Given the description of an element on the screen output the (x, y) to click on. 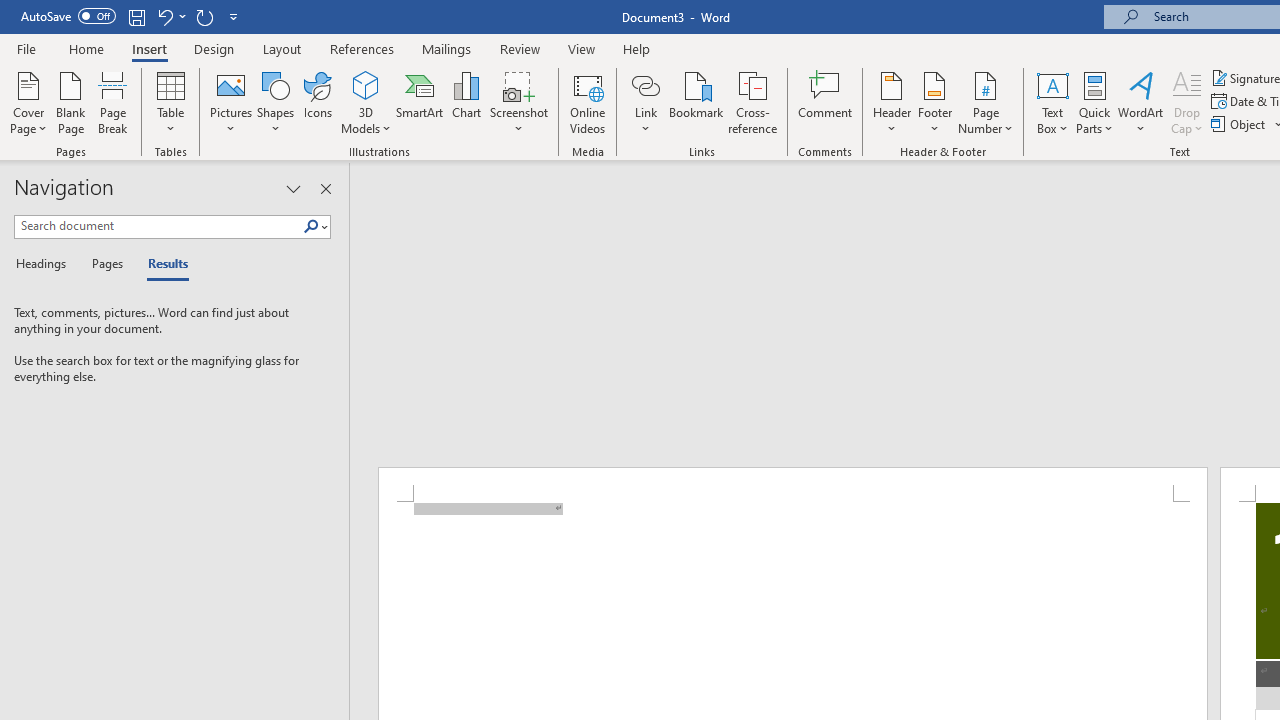
Icons (317, 102)
Screenshot (518, 102)
Bookmark... (695, 102)
Page Break (113, 102)
Footer (934, 102)
Drop Cap (1187, 102)
Header (891, 102)
